Given the description of an element on the screen output the (x, y) to click on. 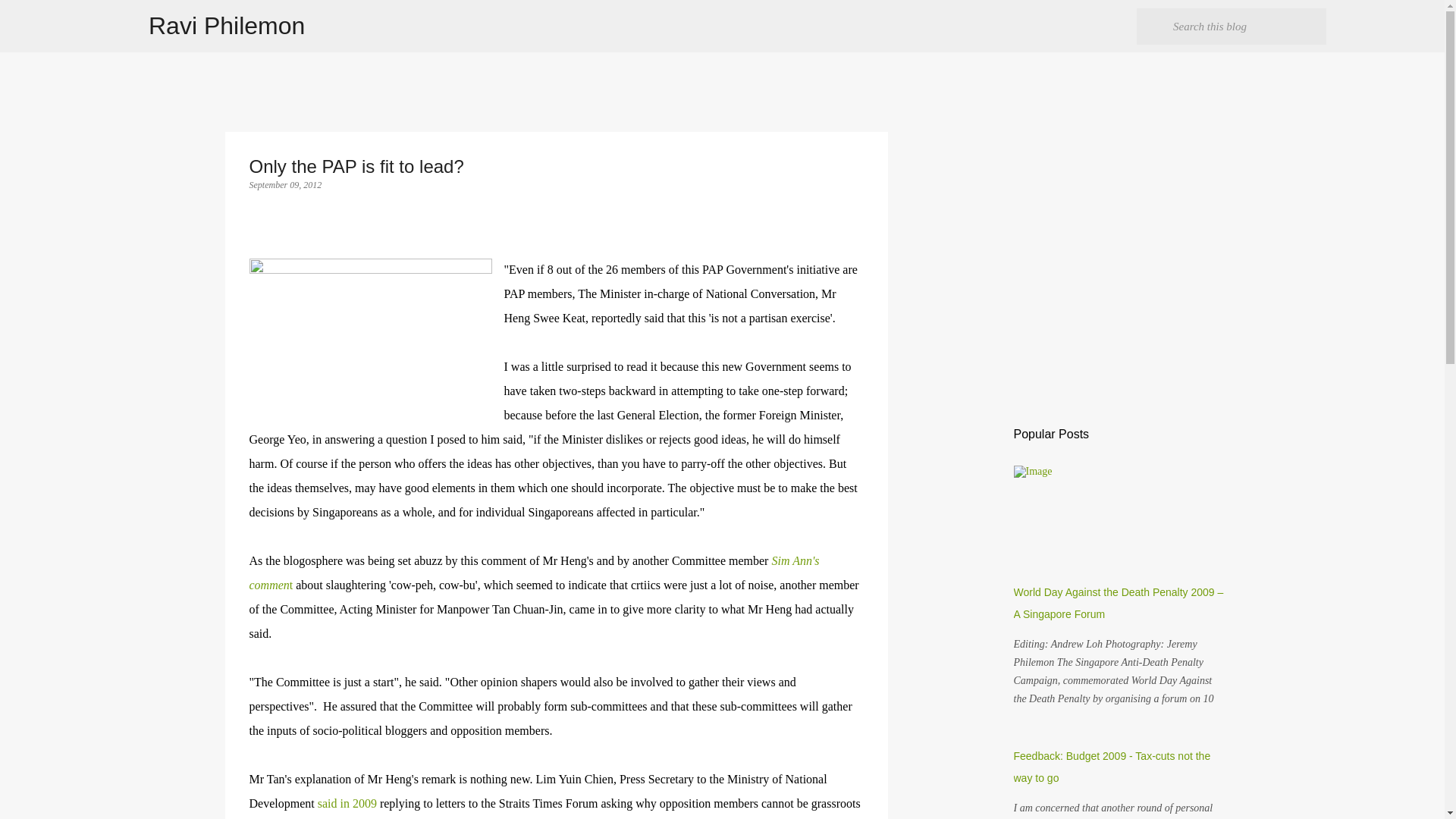
September 09, 2012 (284, 184)
Feedback: Budget 2009 - Tax-cuts not the way to go (1111, 766)
Ravi Philemon (226, 25)
permanent link (284, 184)
Sim Ann's comment (533, 572)
said in 2009 (347, 802)
